Given the description of an element on the screen output the (x, y) to click on. 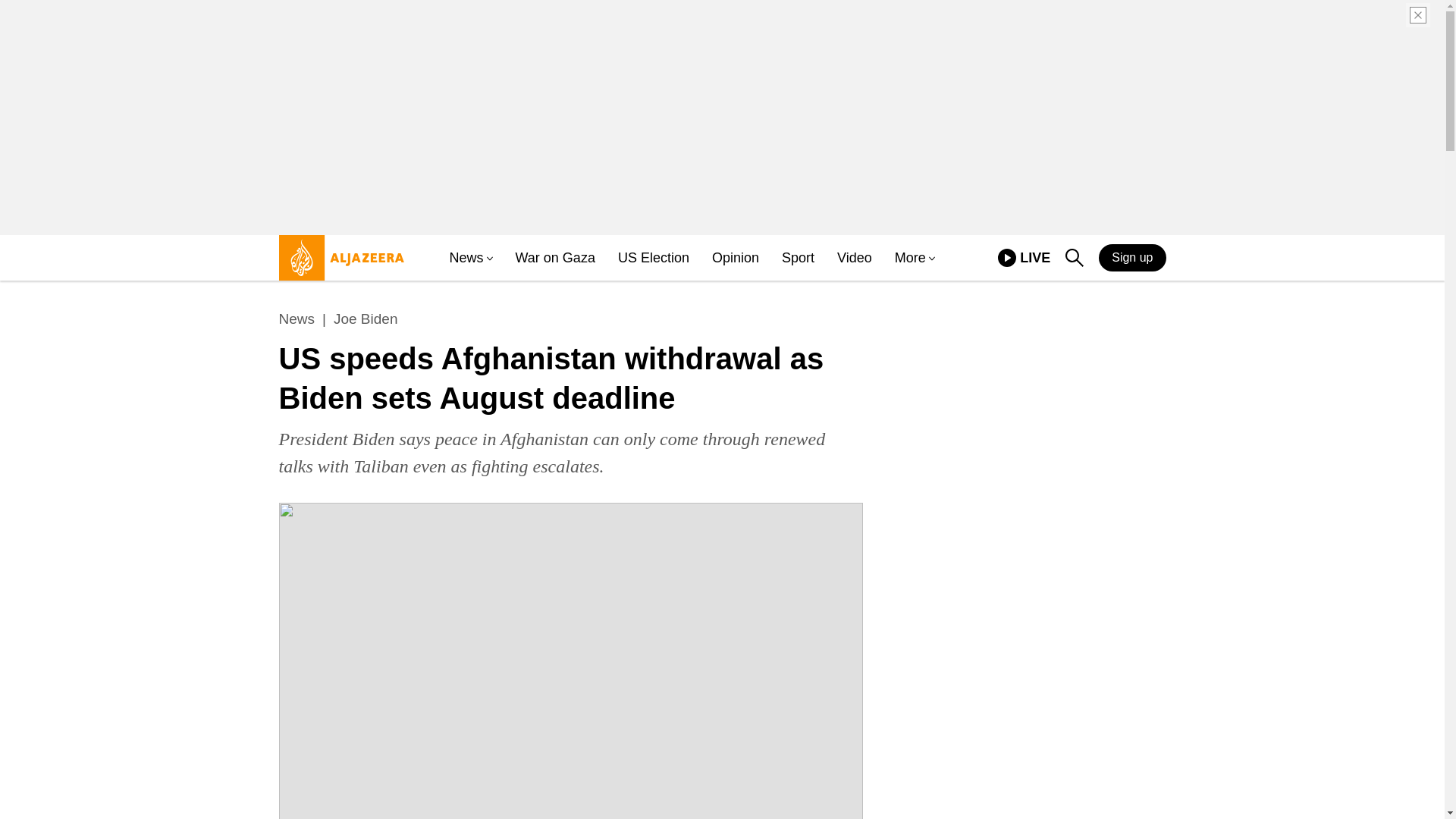
Sign up (1132, 257)
Opinion (734, 257)
More (910, 257)
News (297, 319)
War on Gaza (1023, 257)
Joe Biden (555, 257)
Skip to Content (365, 319)
search (337, 264)
Sport (1074, 257)
